Given the description of an element on the screen output the (x, y) to click on. 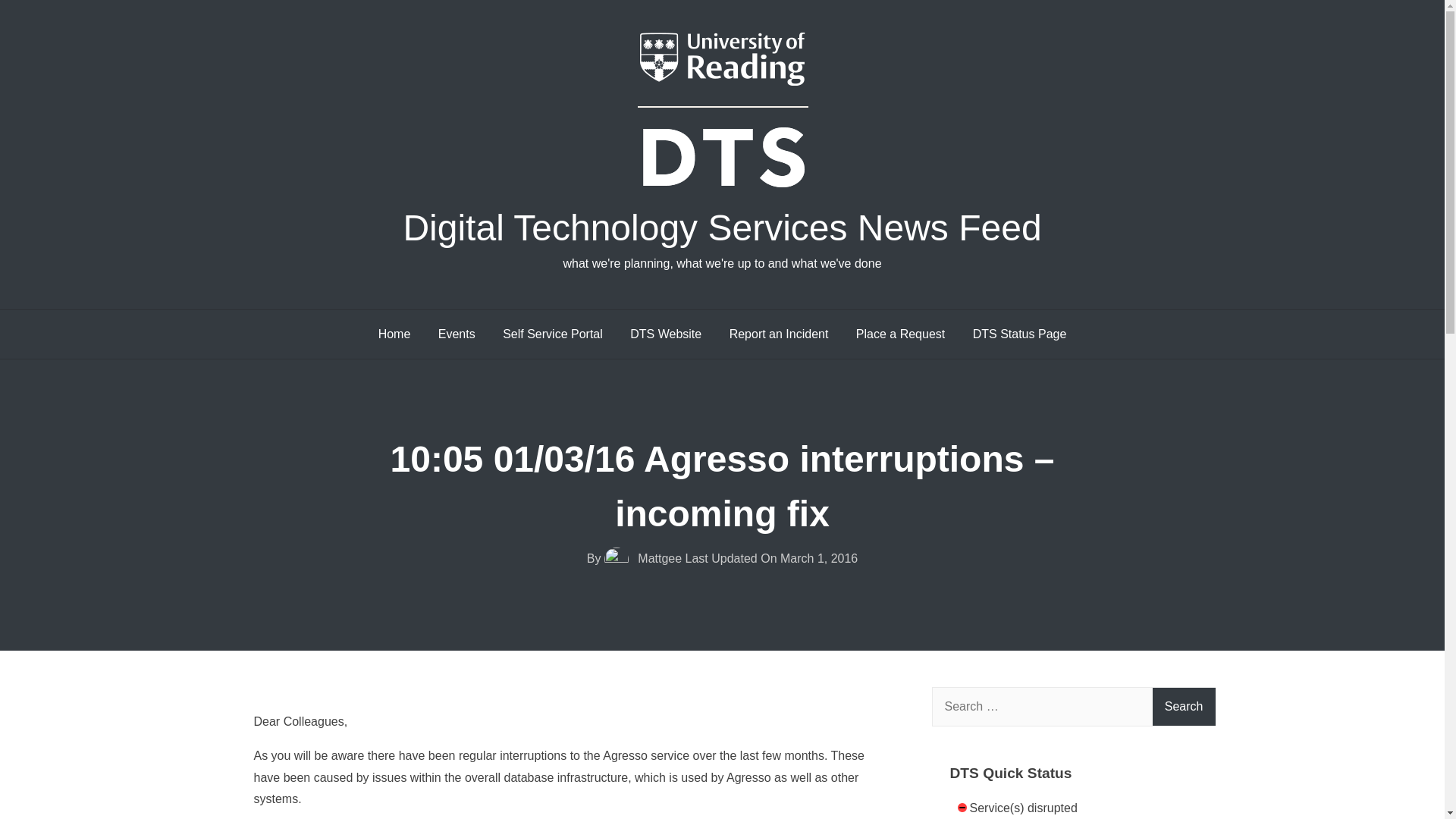
Mattgee (644, 558)
Digital Technology Services News Feed (722, 228)
DTS Website (665, 334)
Search (1184, 706)
Search (1184, 706)
DTS Status Page (1019, 334)
Search (1184, 706)
Home (394, 334)
Report an Incident (779, 334)
March 1, 2016 (818, 558)
Events (456, 334)
Self Service Portal (552, 334)
Place a Request (900, 334)
